Given the description of an element on the screen output the (x, y) to click on. 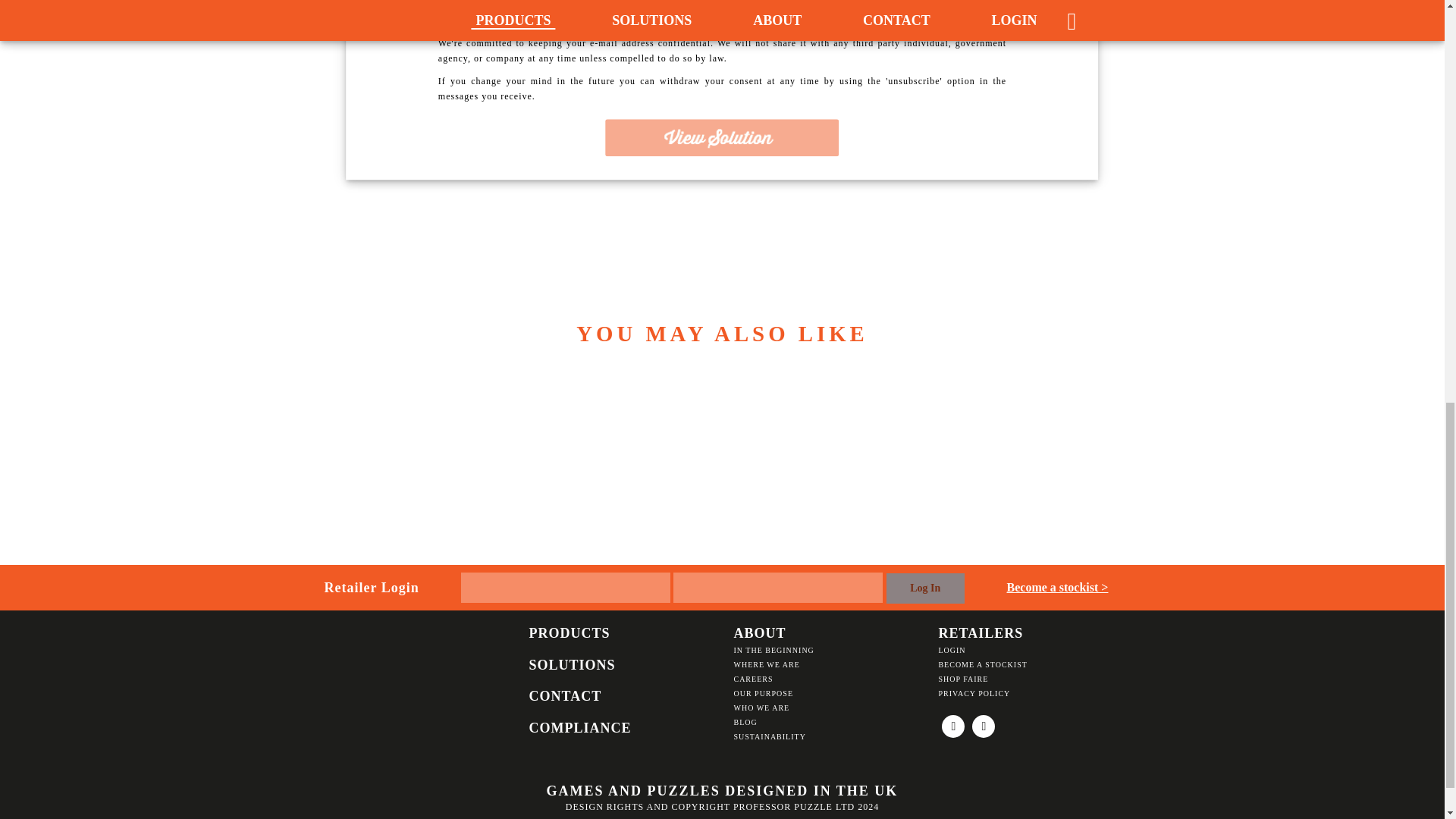
Log In (924, 588)
Please send me cool stuff from Professor Puzzle (462, 0)
